Given the description of an element on the screen output the (x, y) to click on. 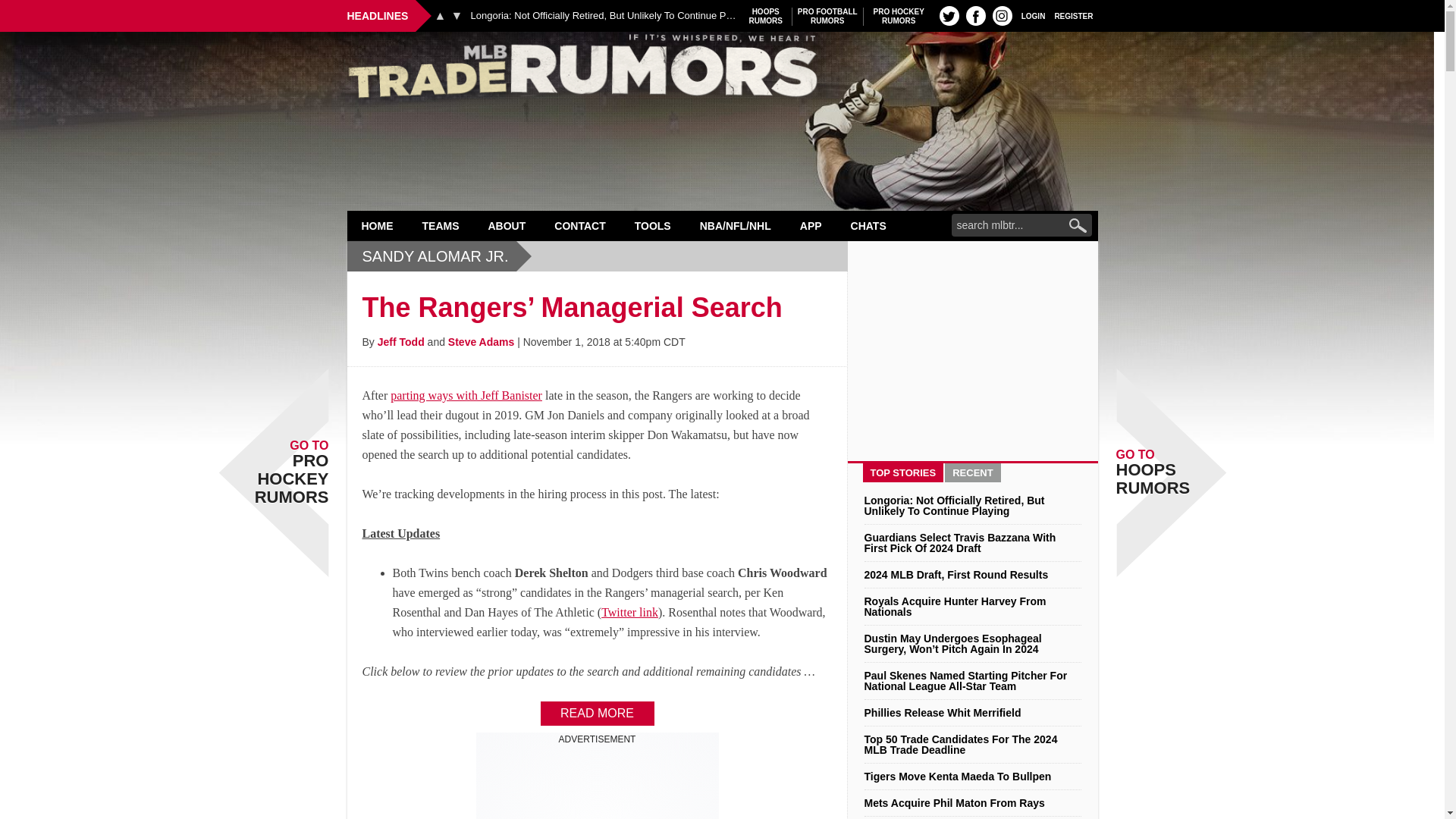
Search (827, 16)
Twitter profile (1073, 15)
Posts by Steve Adams (949, 15)
LOGIN (480, 341)
Instagram profile (1032, 15)
Previous (898, 16)
TEAMS (1001, 15)
Next (439, 15)
FB profile (440, 225)
Posts by Jeff Todd (456, 15)
